Given the description of an element on the screen output the (x, y) to click on. 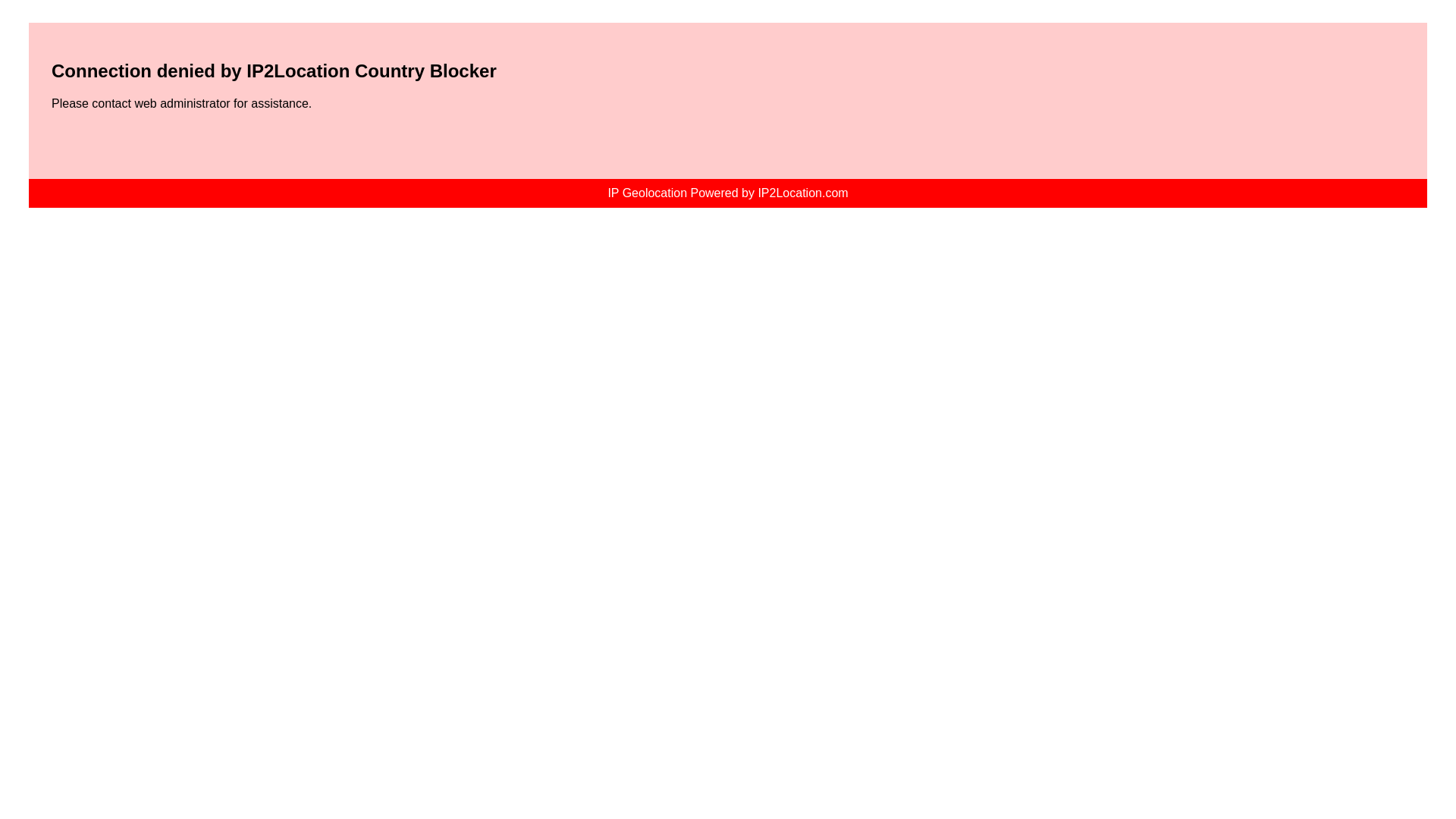
IP Geolocation Powered by IP2Location.com Element type: text (727, 192)
